Given the description of an element on the screen output the (x, y) to click on. 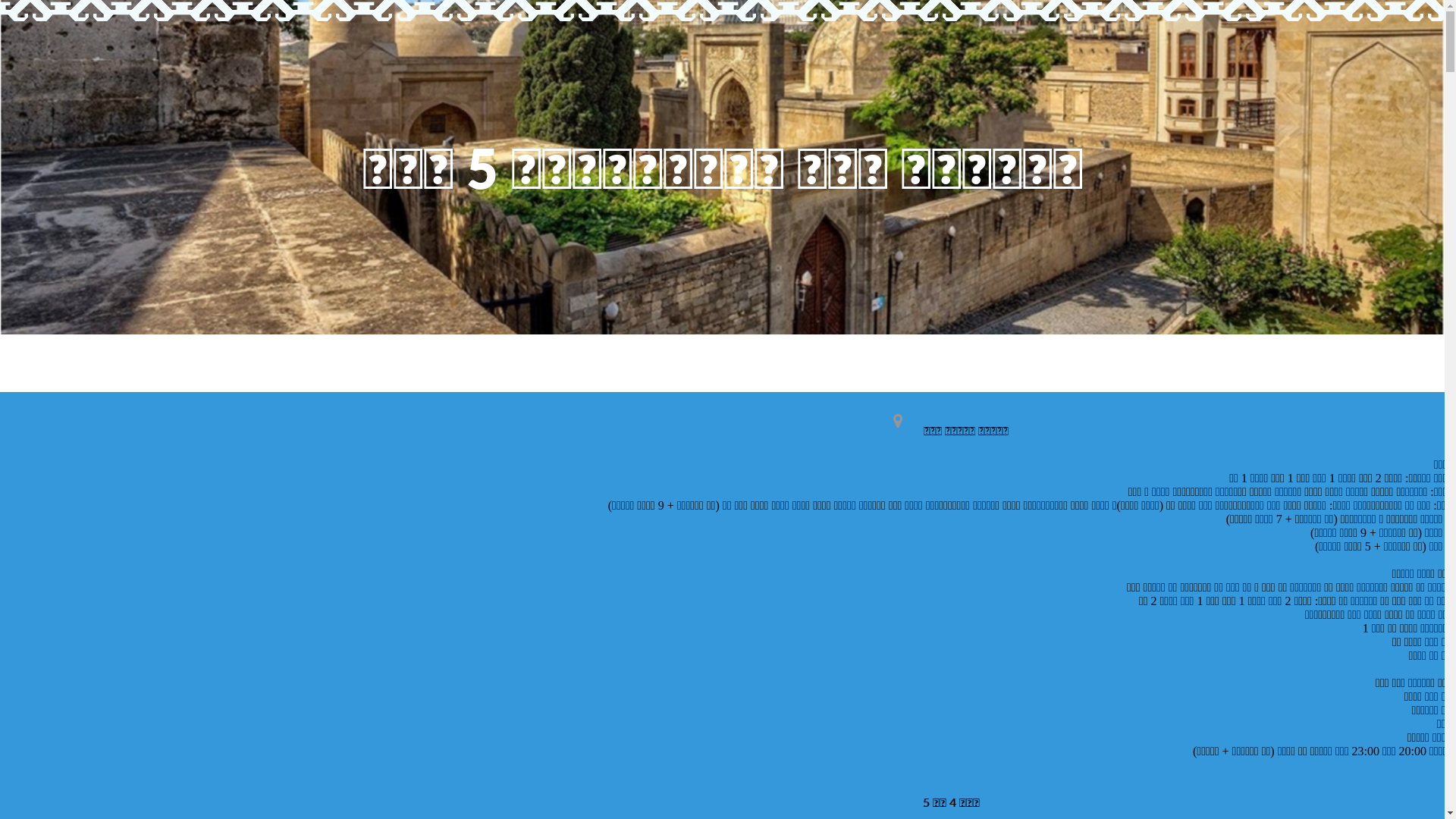
EN Element type: text (1184, 34)
RU Element type: text (1185, 47)
AR Element type: text (1184, 61)
AZ Element type: text (1184, 20)
